Given the description of an element on the screen output the (x, y) to click on. 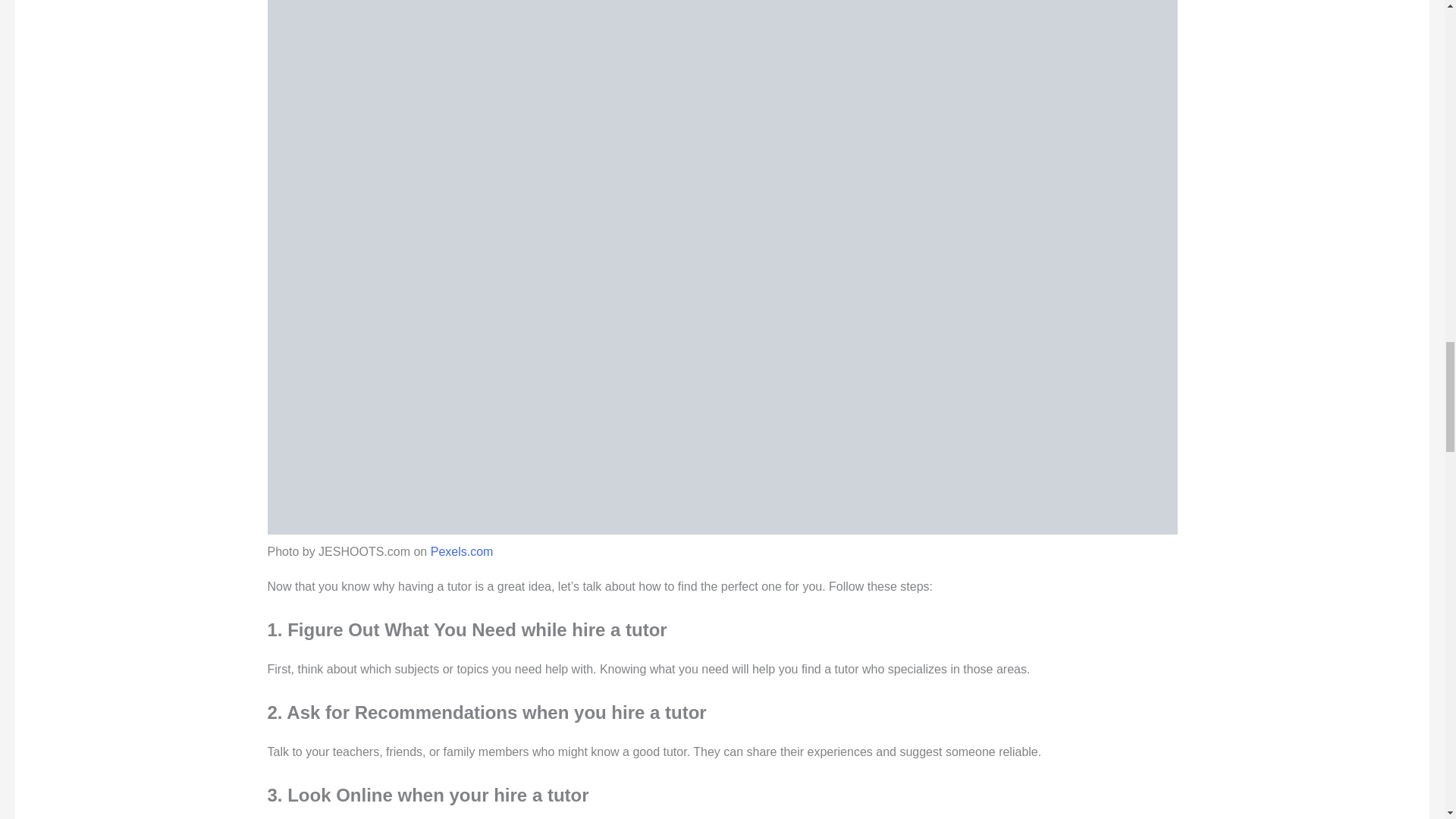
Pexels.com (461, 551)
